Given the description of an element on the screen output the (x, y) to click on. 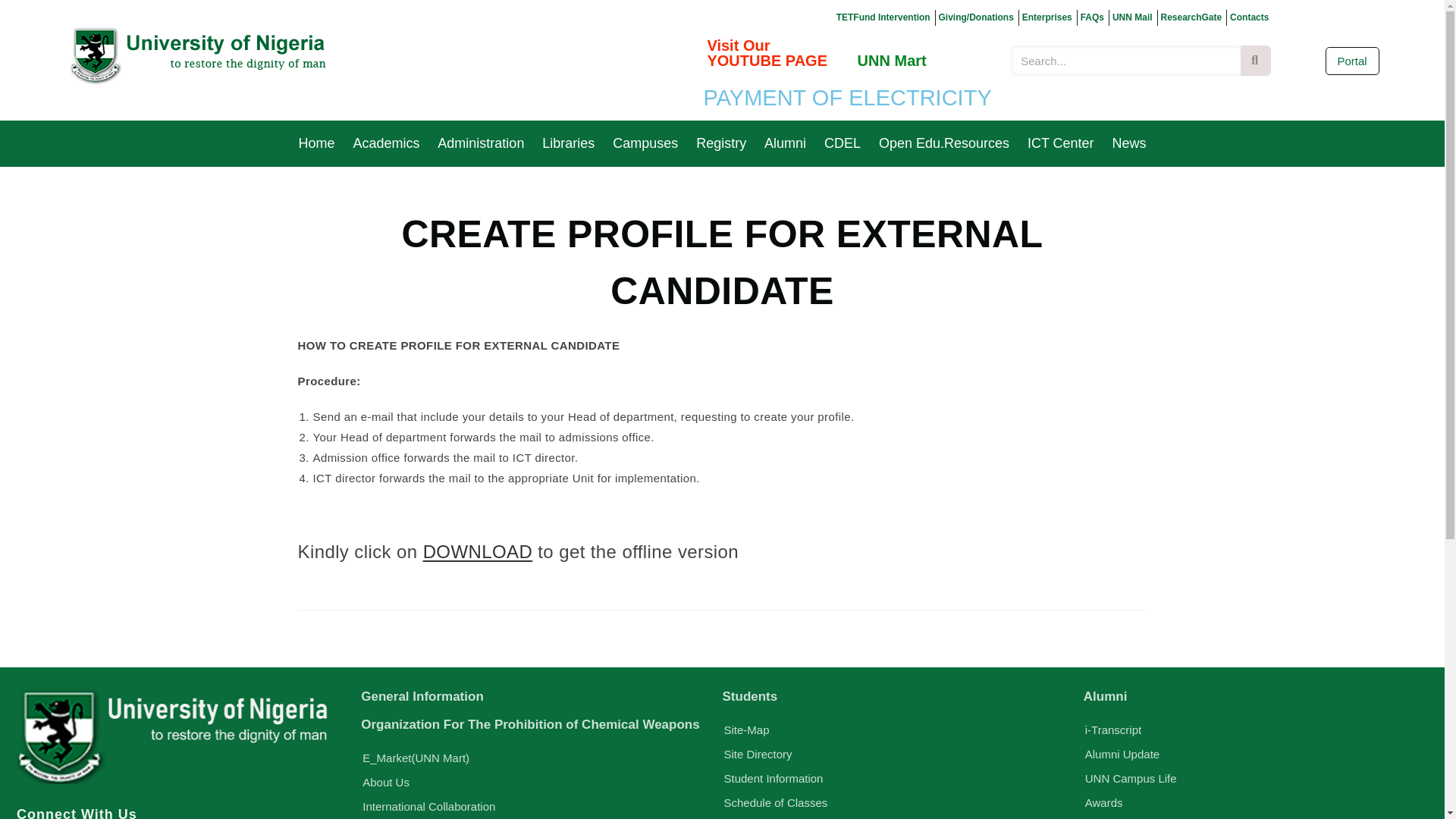
Enterprises (1049, 17)
ResearchGate (1193, 17)
FAQs (1094, 17)
UNN Mail (1134, 17)
TETFund Intervention (885, 17)
